Given the description of an element on the screen output the (x, y) to click on. 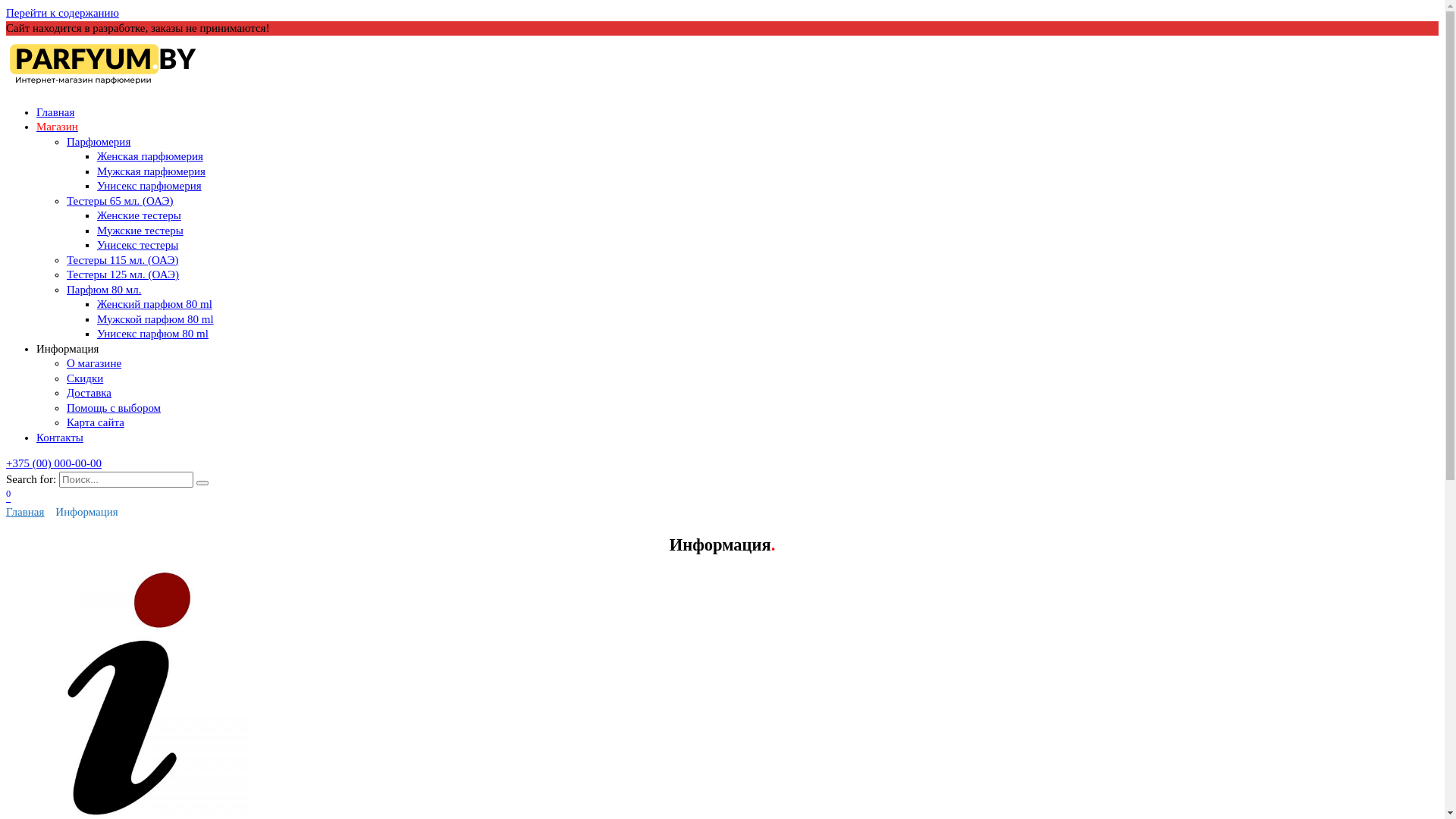
0 Element type: text (8, 497)
+375 (00) 000-00-00 Element type: text (53, 463)
